Given the description of an element on the screen output the (x, y) to click on. 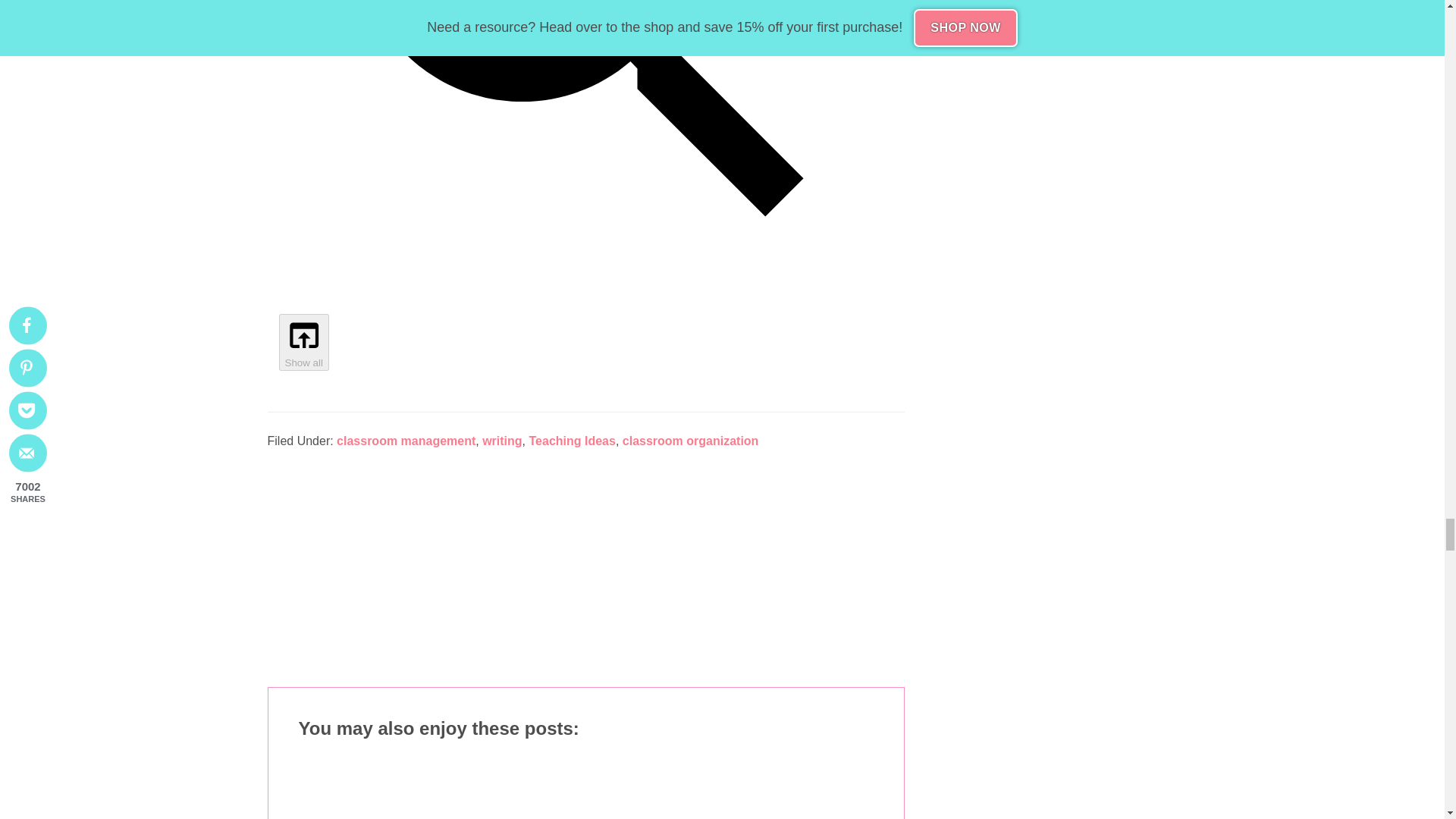
Permanent Link toGoal Setting for Kids Made Simple! (785, 790)
